Given the description of an element on the screen output the (x, y) to click on. 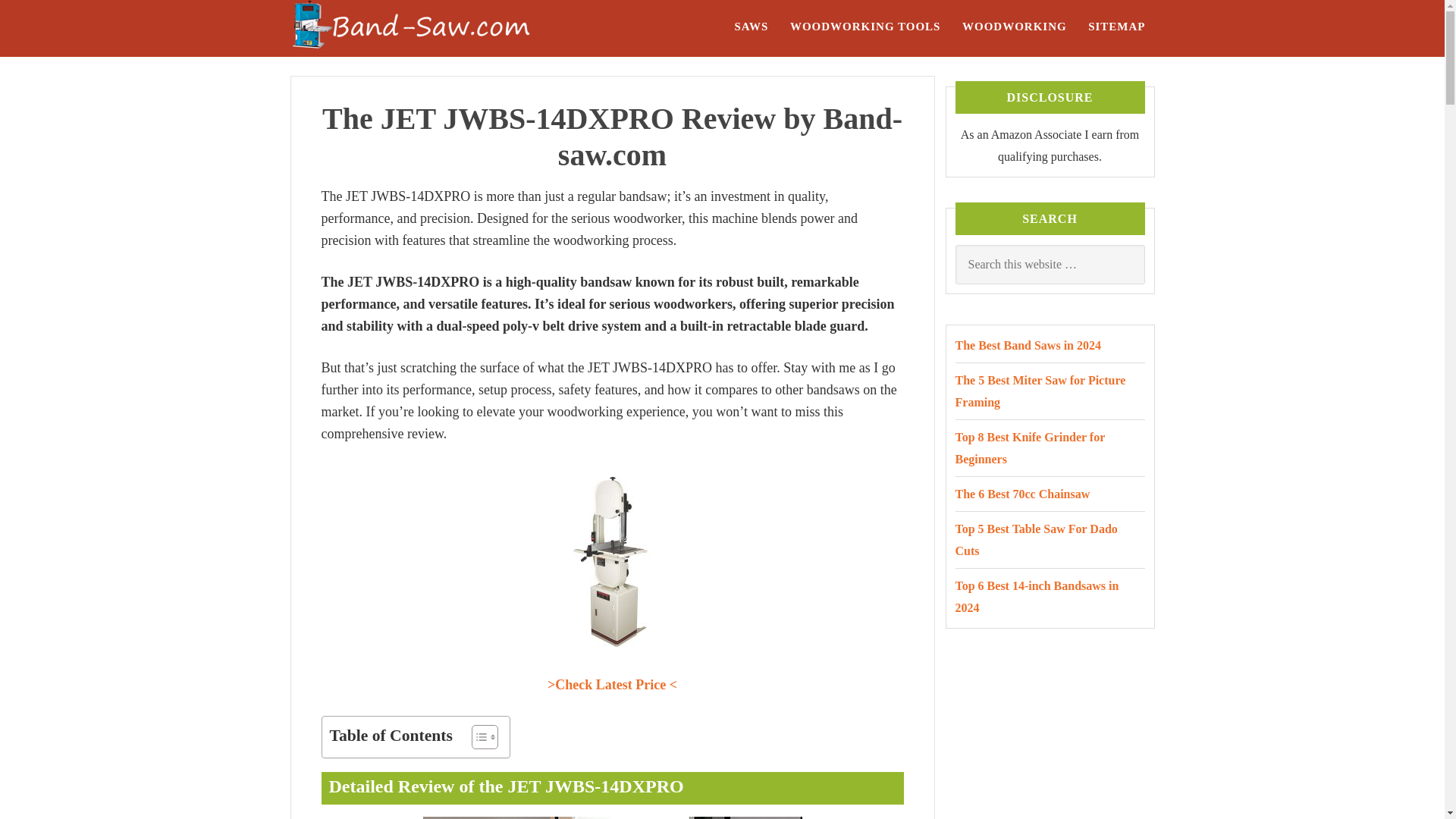
WOODWORKING (1014, 26)
SAWS (751, 26)
SITEMAP (1116, 26)
BAND-SAW.COM (440, 28)
WOODWORKING TOOLS (865, 26)
JET JWBS-14DXPRO band saw Review (611, 559)
